Given the description of an element on the screen output the (x, y) to click on. 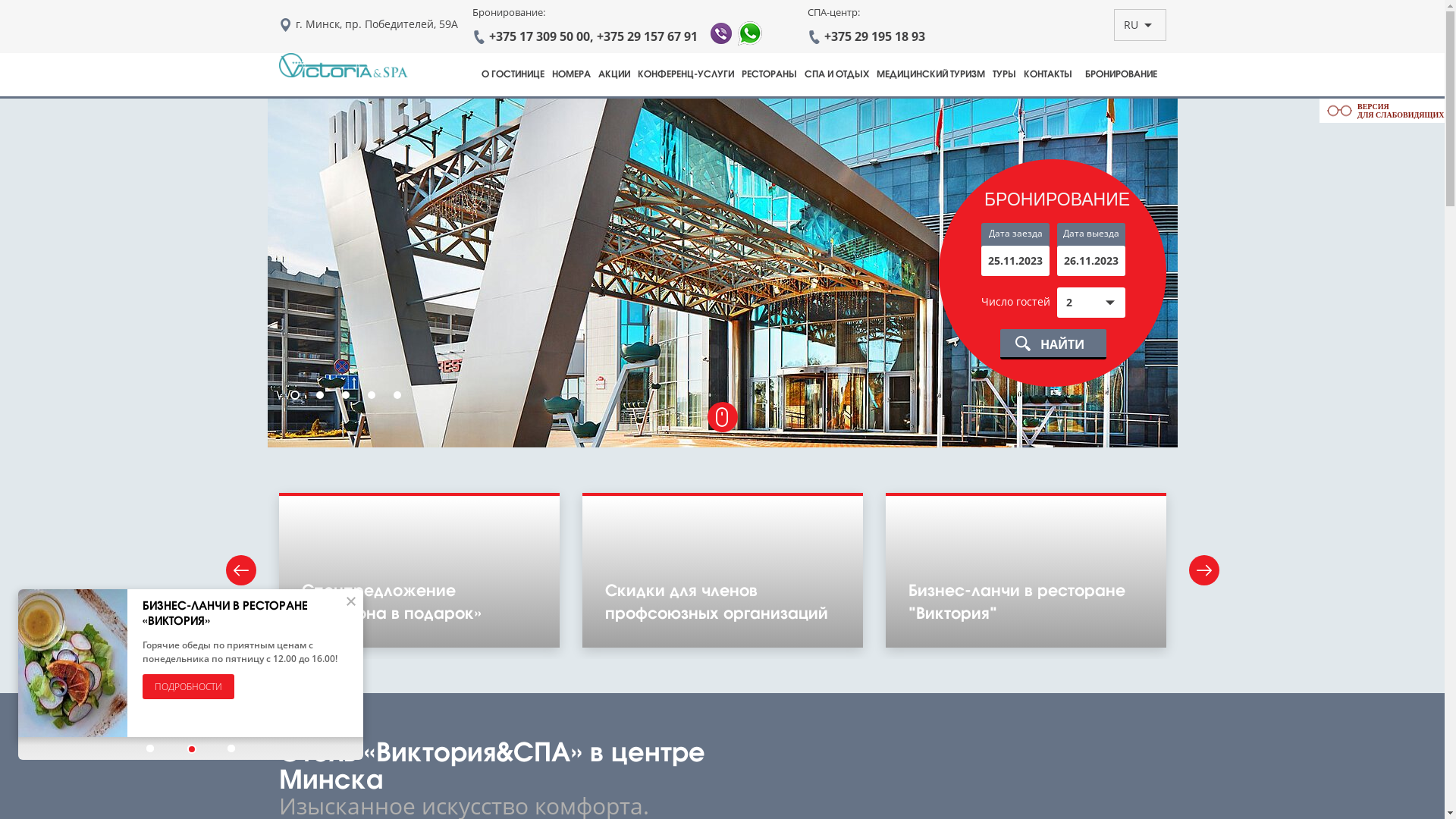
+375 17 309 50 00, Element type: text (540, 36)
4 Element type: text (371, 395)
3 Element type: text (345, 395)
+375 29 157 67 91 Element type: text (646, 36)
1 Element type: text (294, 395)
+375 29 195 18 93 Element type: text (873, 36)
5 Element type: text (396, 395)
2 Element type: text (319, 395)
